Given the description of an element on the screen output the (x, y) to click on. 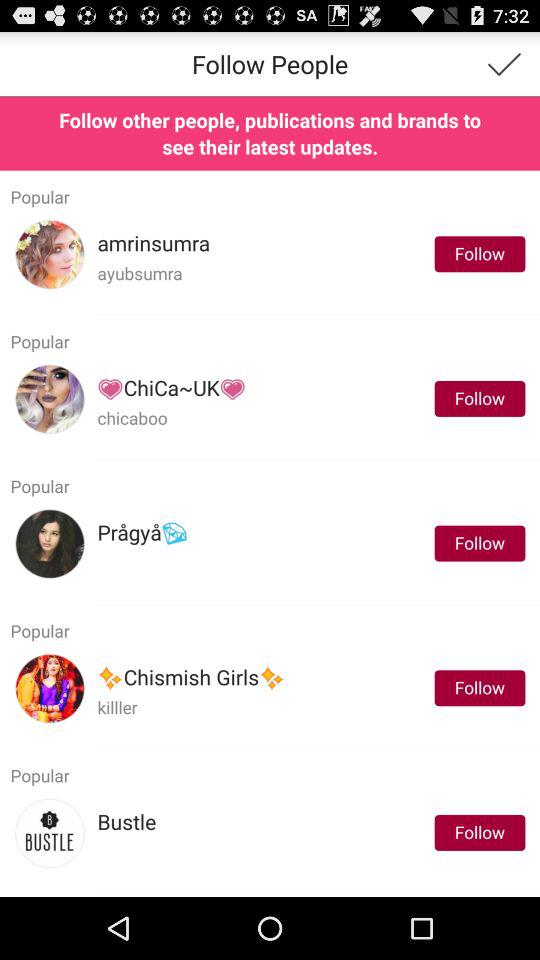
turn on the icon above the ayubsumra icon (153, 243)
